Given the description of an element on the screen output the (x, y) to click on. 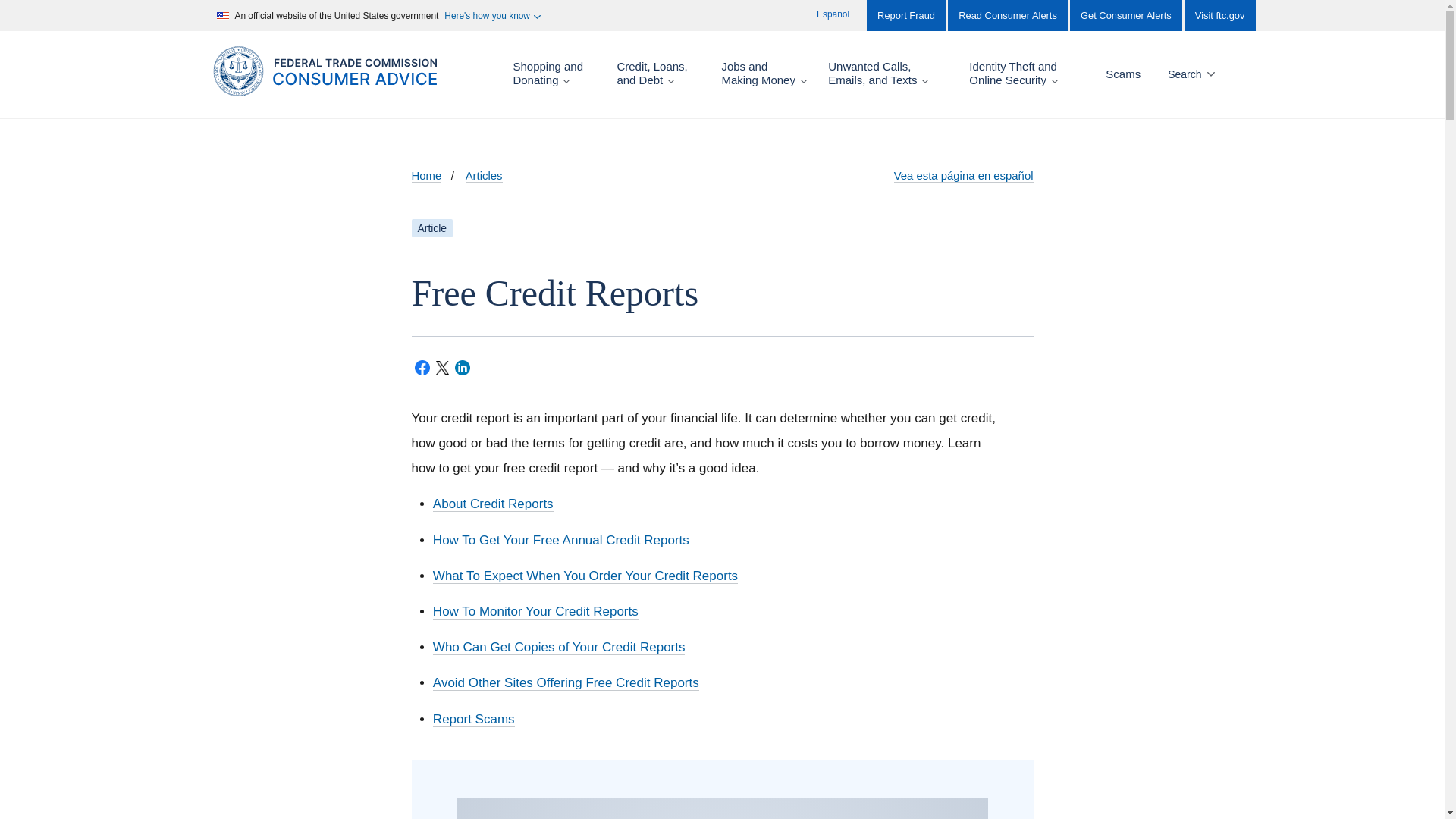
Report Fraud (905, 15)
Jobs and Making Money (764, 73)
Visit ftc.gov (1220, 15)
Credit, Loans, and Debt (658, 73)
Read Consumer Alerts (1007, 15)
Here's how you know (492, 15)
Shopping and Donating (553, 73)
Get Consumer Alerts (1126, 15)
Home (425, 175)
Home (343, 87)
